Given the description of an element on the screen output the (x, y) to click on. 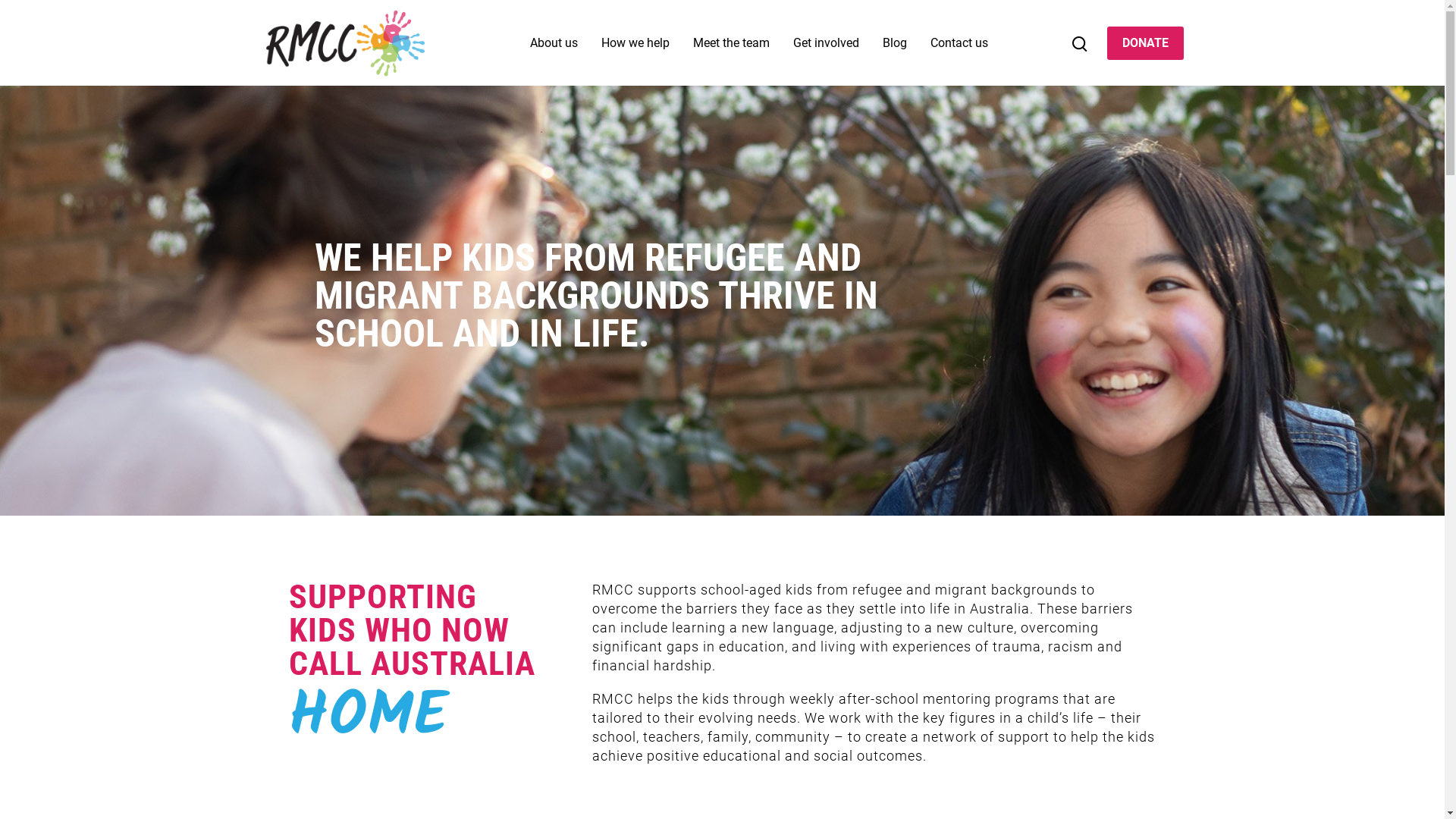
Get involved Element type: text (826, 50)
About us Element type: text (553, 50)
Meet the team Element type: text (731, 50)
How we help Element type: text (634, 50)
Contact us Element type: text (958, 50)
DONATE Element type: text (1145, 42)
Blog Element type: text (894, 50)
